Given the description of an element on the screen output the (x, y) to click on. 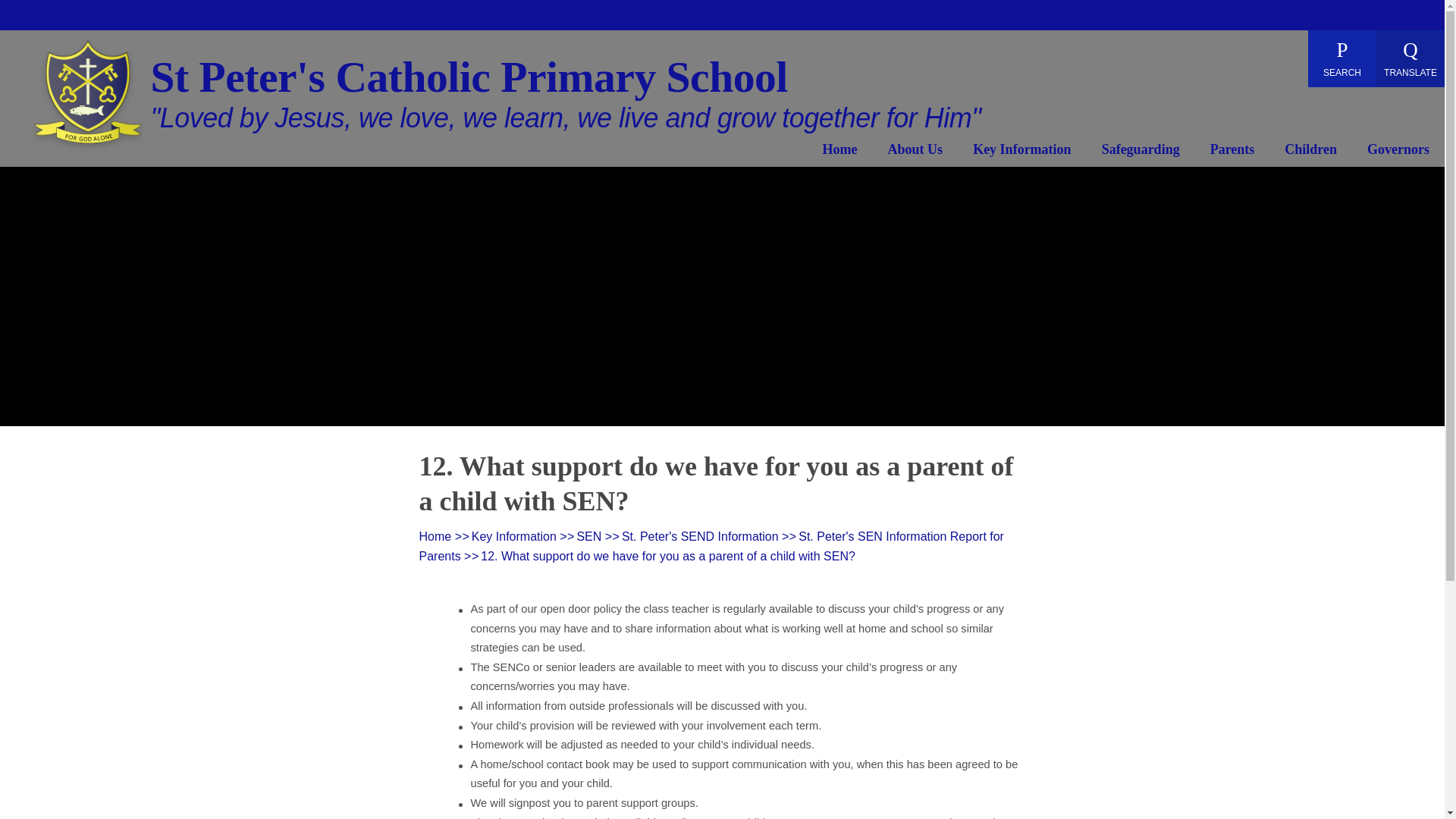
Home (839, 152)
About Us (915, 152)
Key Information (1021, 152)
Home Page (88, 96)
